Given the description of an element on the screen output the (x, y) to click on. 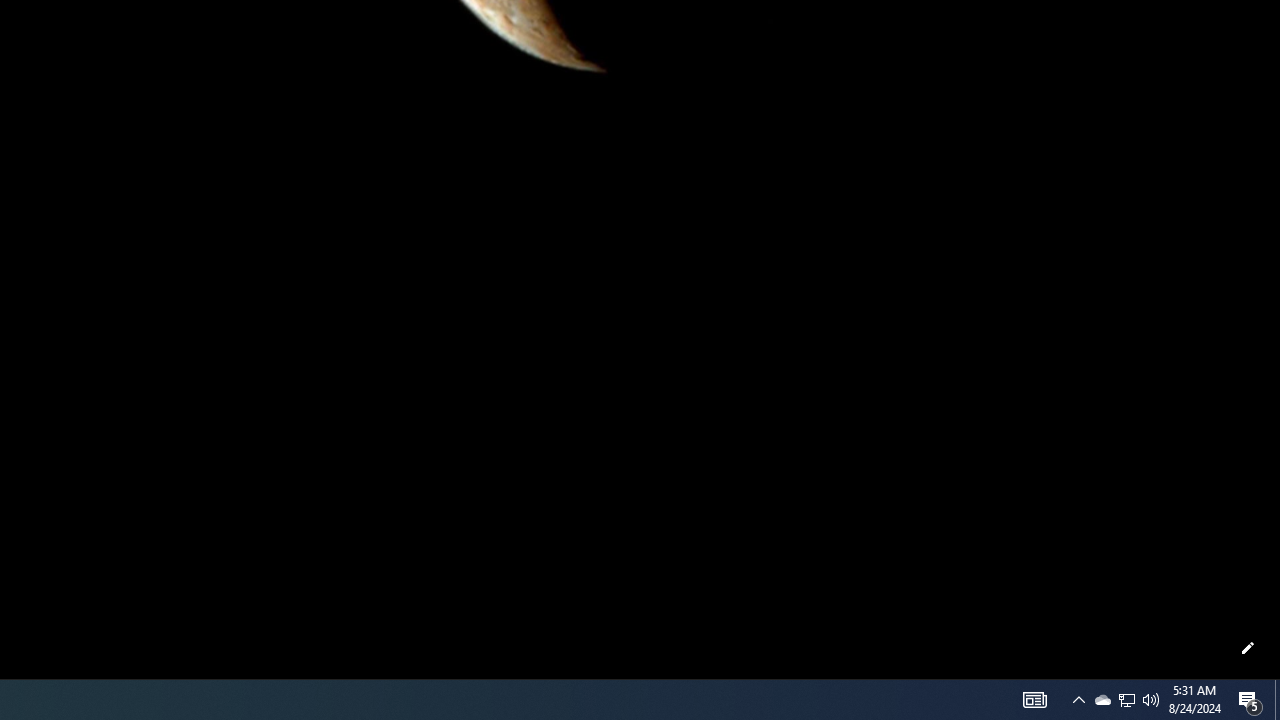
Q2790: 100% (1151, 699)
AutomationID: 4105 (1034, 699)
User Promoted Notification Area (1126, 699)
Customize this page (1126, 699)
Show desktop (1247, 647)
Action Center, 5 new notifications (1102, 699)
Notification Chevron (1277, 699)
